Given the description of an element on the screen output the (x, y) to click on. 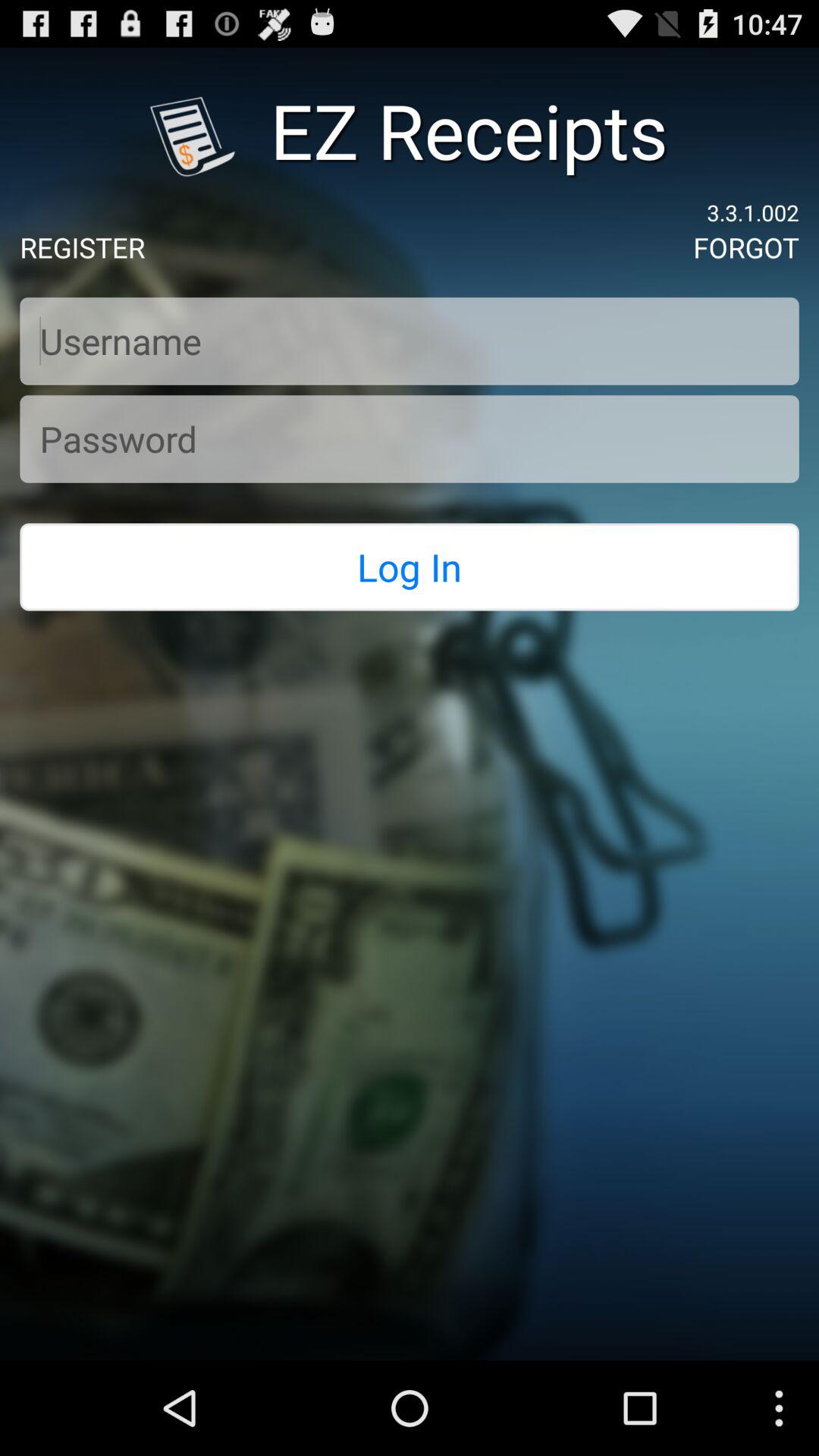
tap the icon to the left of the forgot app (82, 247)
